Given the description of an element on the screen output the (x, y) to click on. 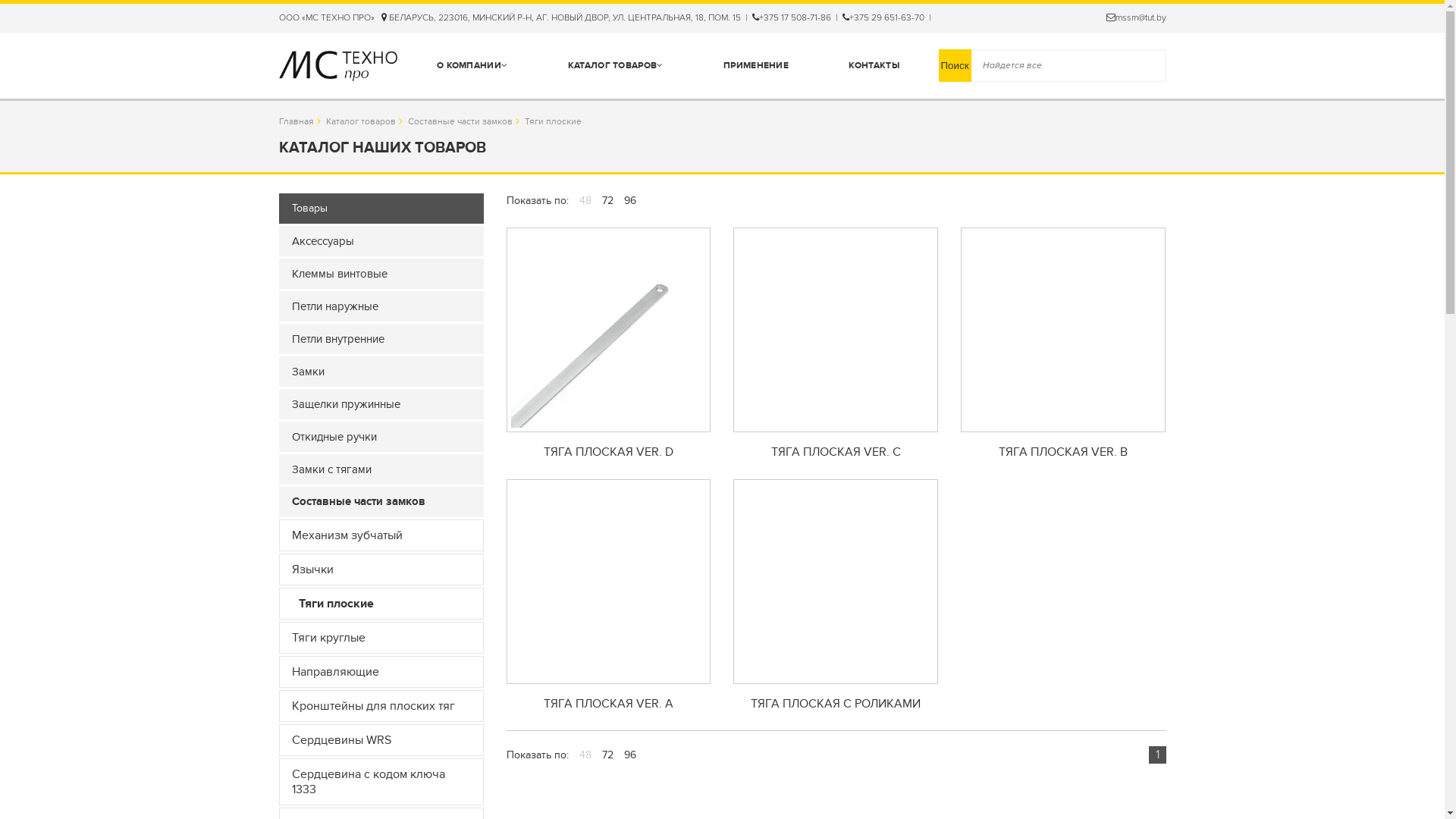
+375 17 508-71-86 Element type: text (791, 17)
72 Element type: text (607, 754)
mssm@tut.by Element type: text (1135, 17)
48 Element type: text (585, 200)
+375 29 651-63-70 Element type: text (882, 17)
96 Element type: text (629, 754)
96 Element type: text (629, 200)
72 Element type: text (607, 200)
48 Element type: text (585, 754)
